Given the description of an element on the screen output the (x, y) to click on. 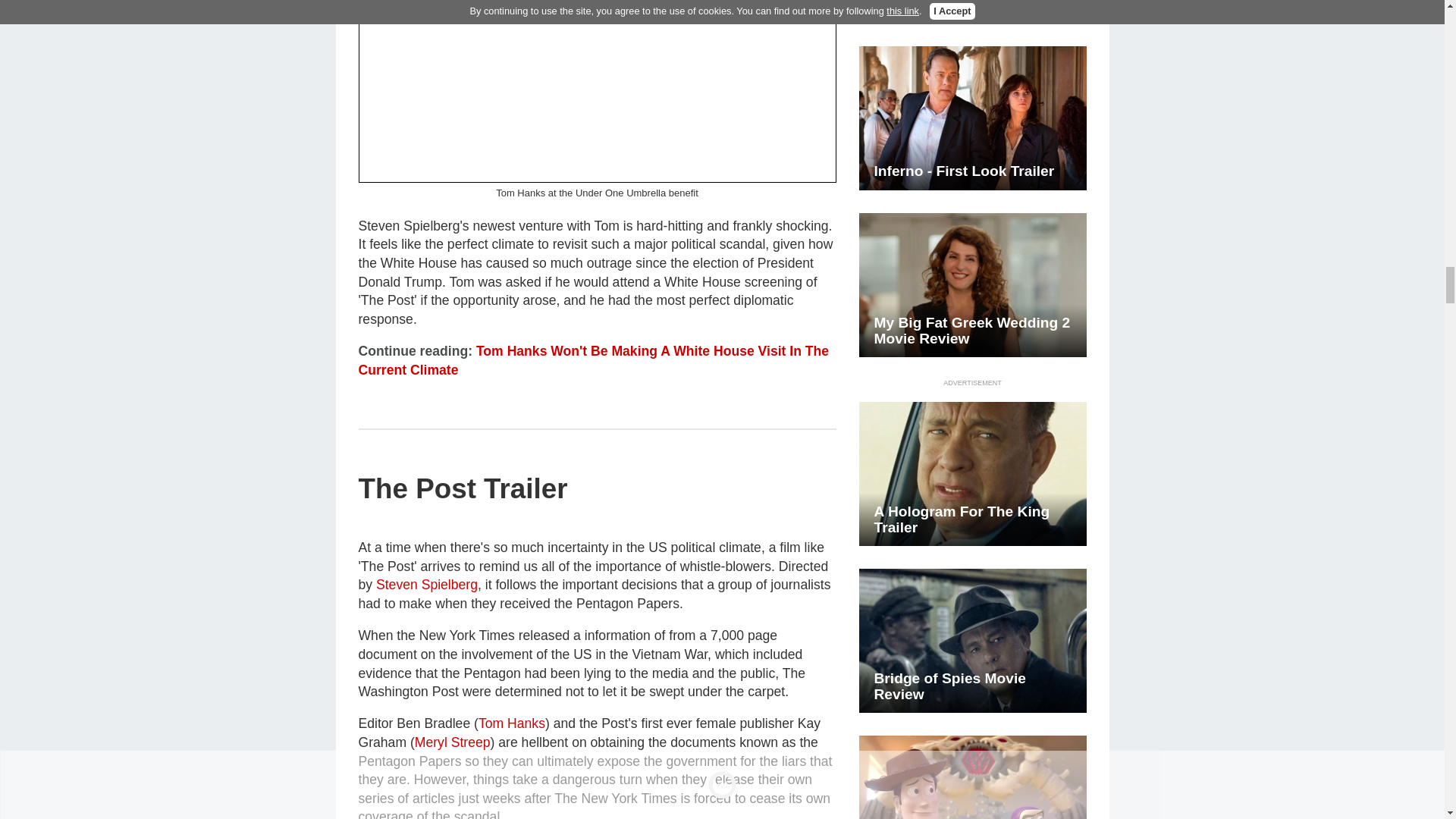
Tom Hanks at the Under One Umbrella benefit (596, 91)
